Given the description of an element on the screen output the (x, y) to click on. 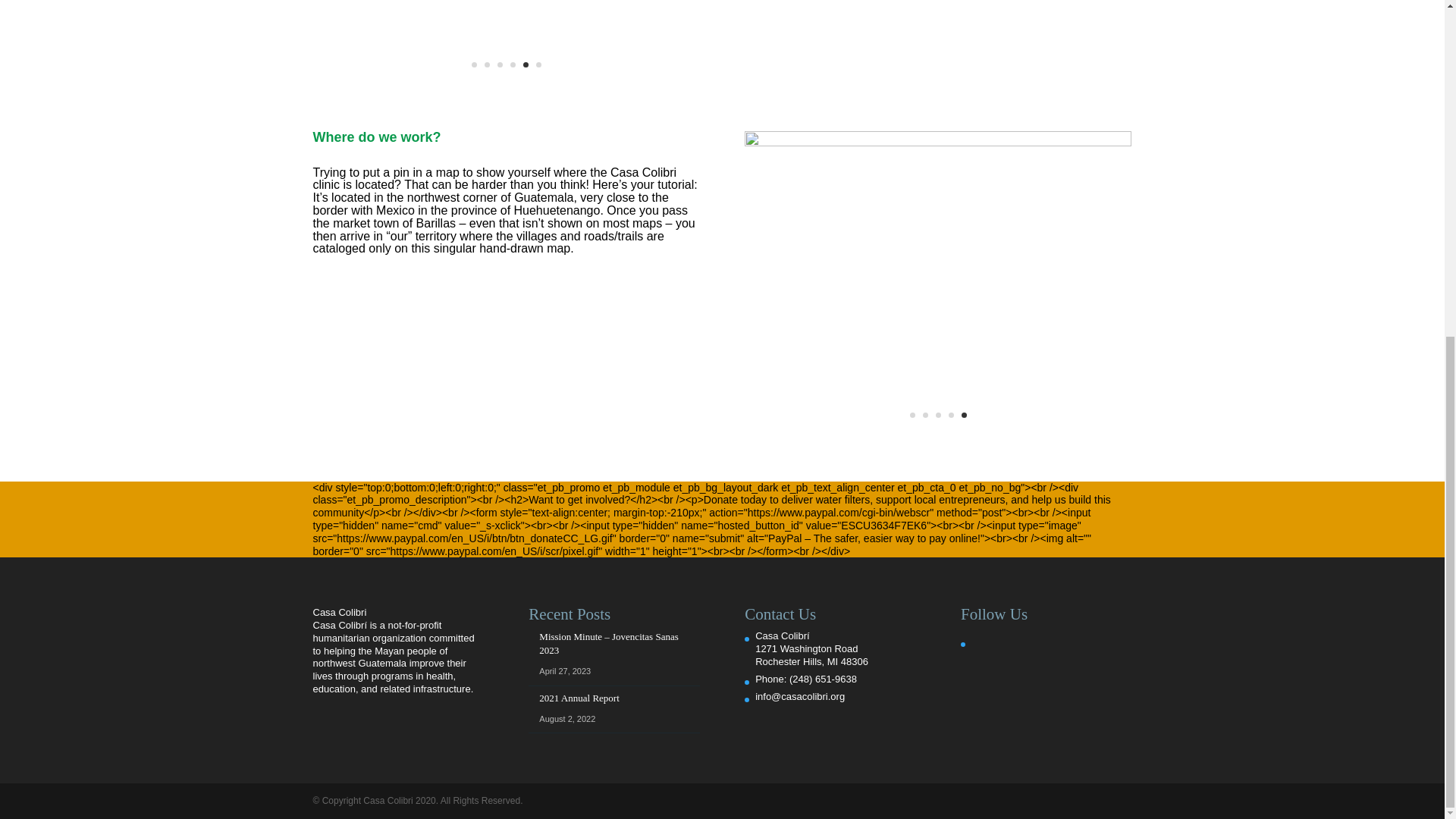
Wherearewe (937, 142)
